Given the description of an element on the screen output the (x, y) to click on. 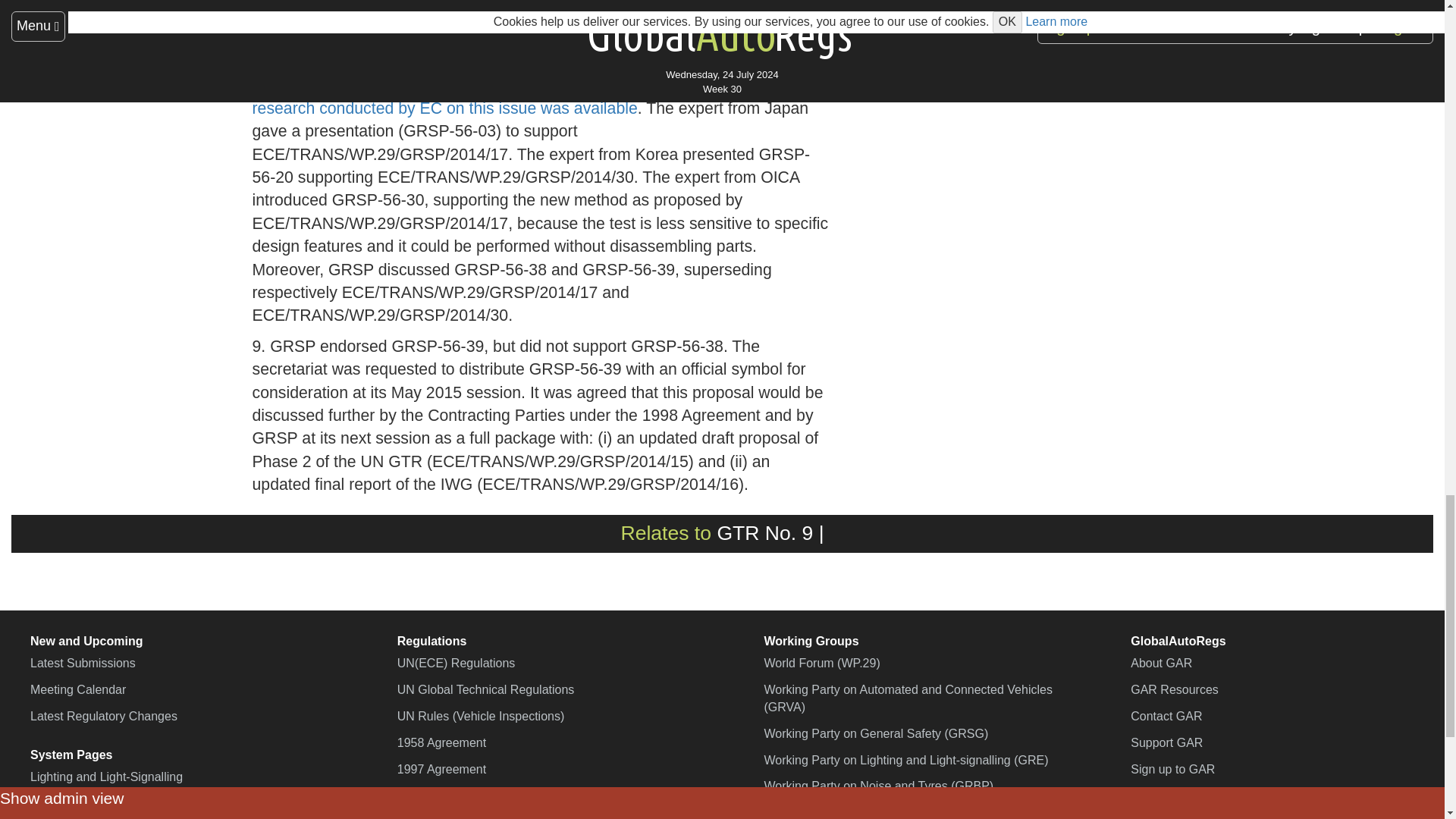
Pedestrian Safety (764, 532)
